Given the description of an element on the screen output the (x, y) to click on. 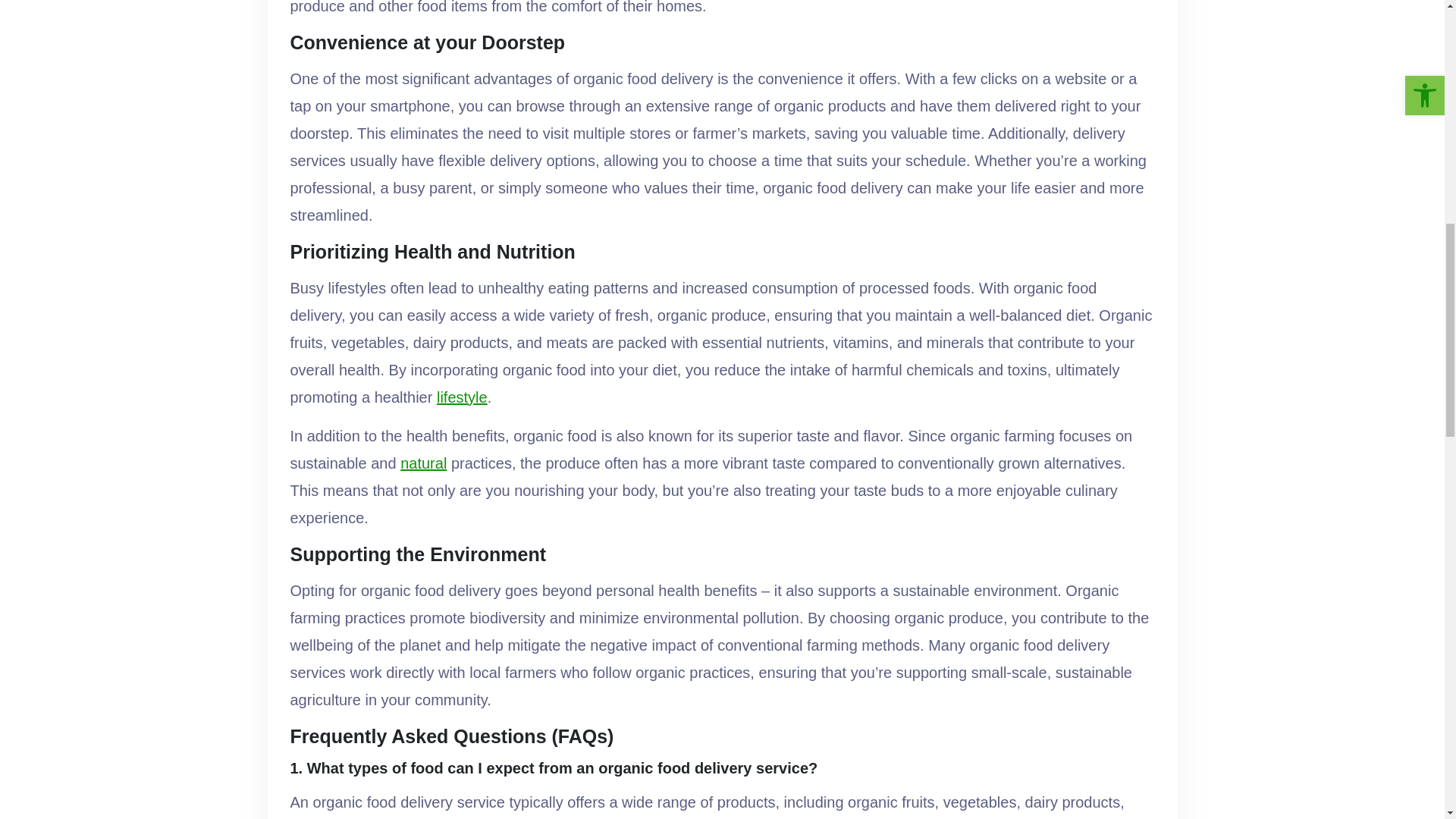
lifestyle (461, 397)
natural (423, 462)
natural (423, 462)
lifestyle (461, 397)
